Given the description of an element on the screen output the (x, y) to click on. 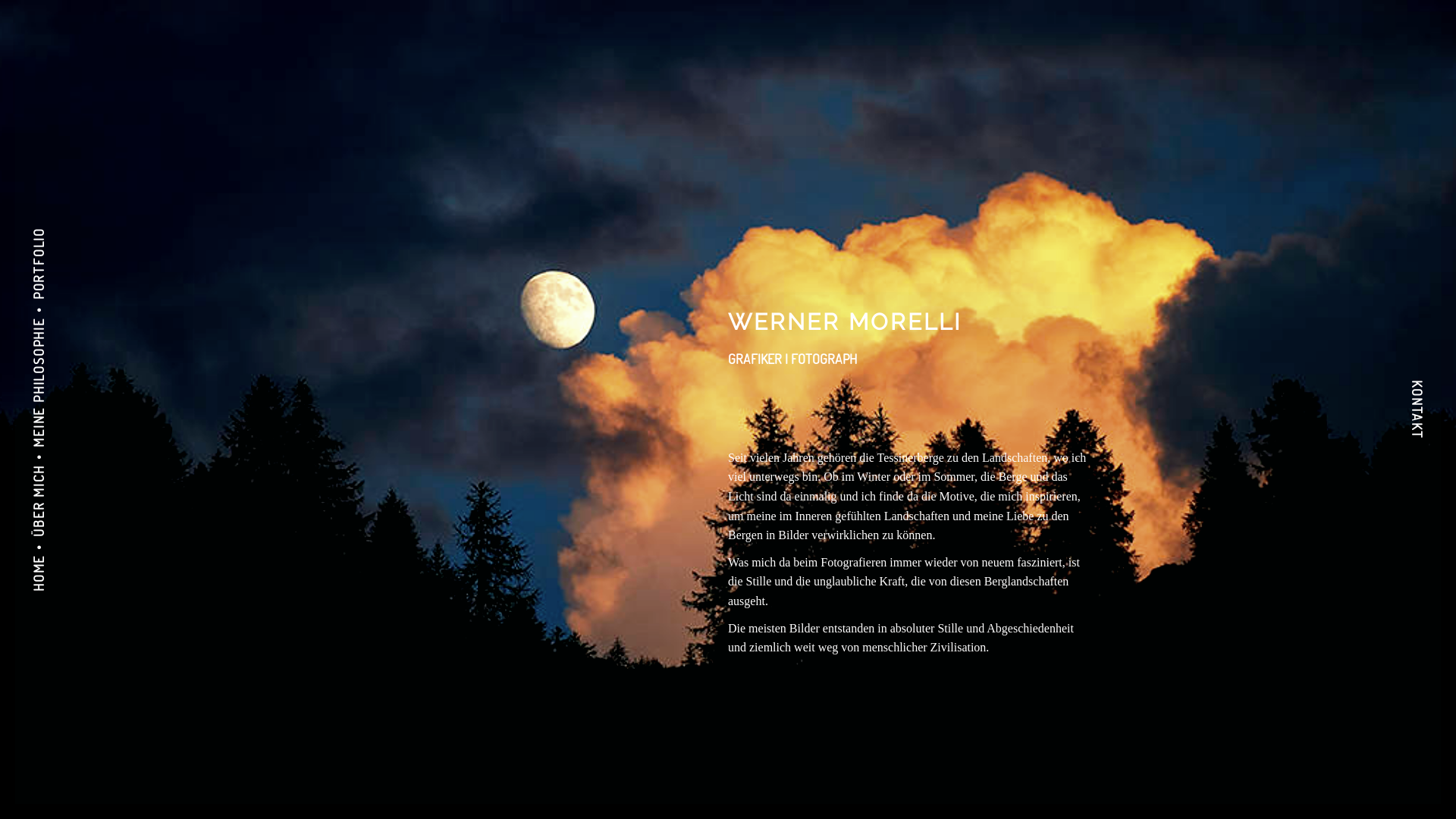
PORTFOLIO Element type: text (65, 237)
HOME Element type: text (47, 564)
MEINE PHILOSOPHIE Element type: text (94, 327)
